Given the description of an element on the screen output the (x, y) to click on. 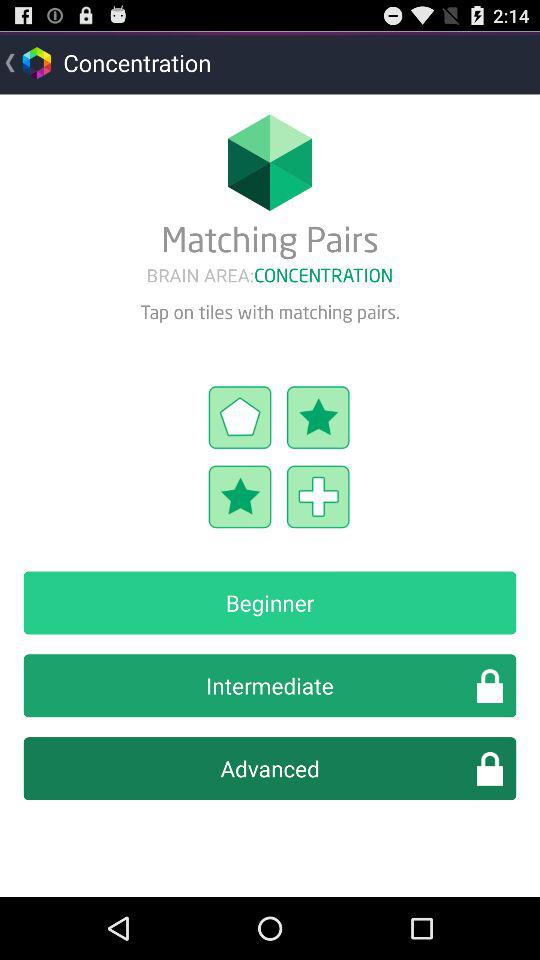
select the advanced icon (269, 768)
